Given the description of an element on the screen output the (x, y) to click on. 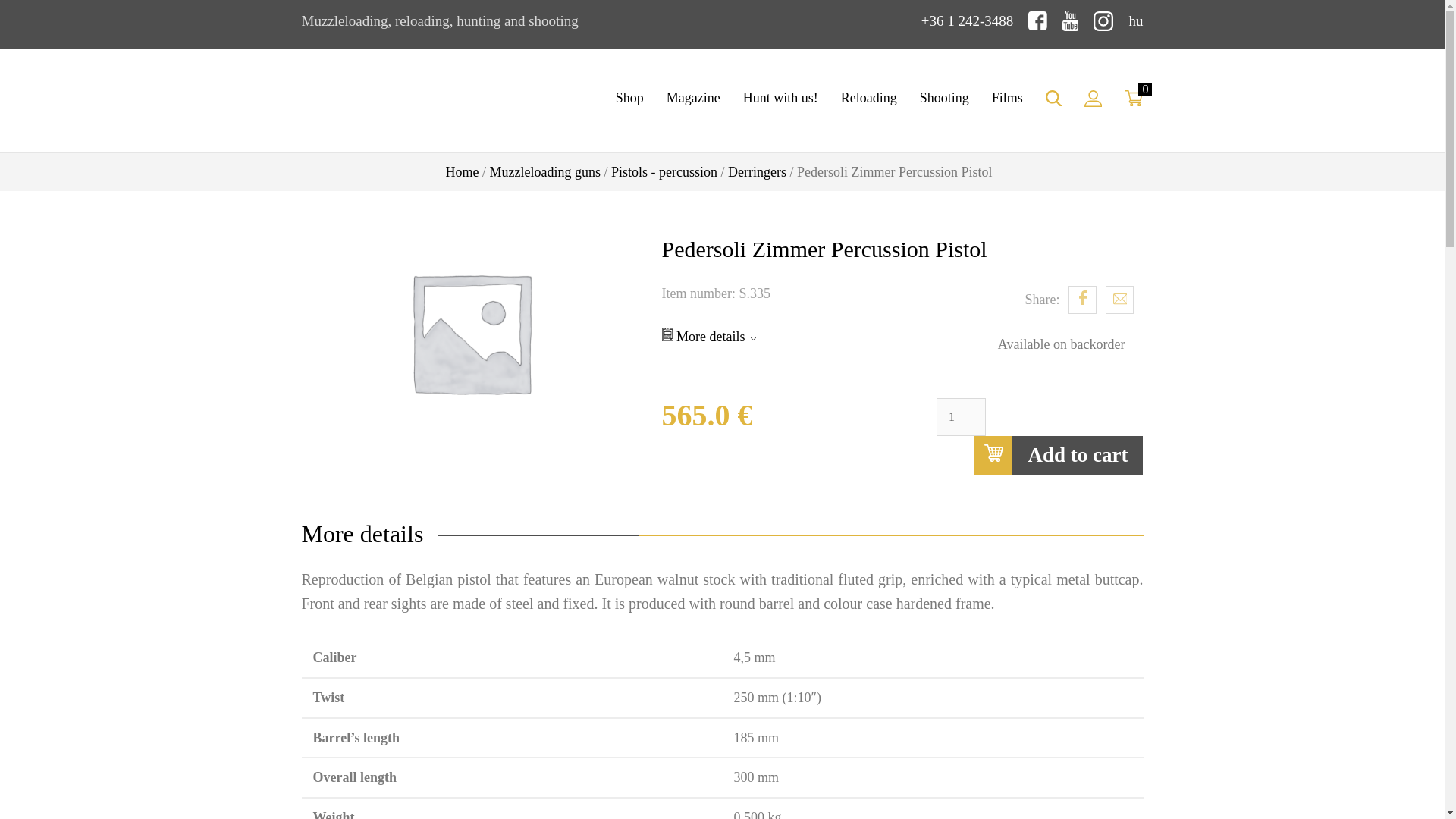
Hunt with us! (780, 98)
1 (960, 416)
Qty (960, 416)
hu (1135, 20)
